Given the description of an element on the screen output the (x, y) to click on. 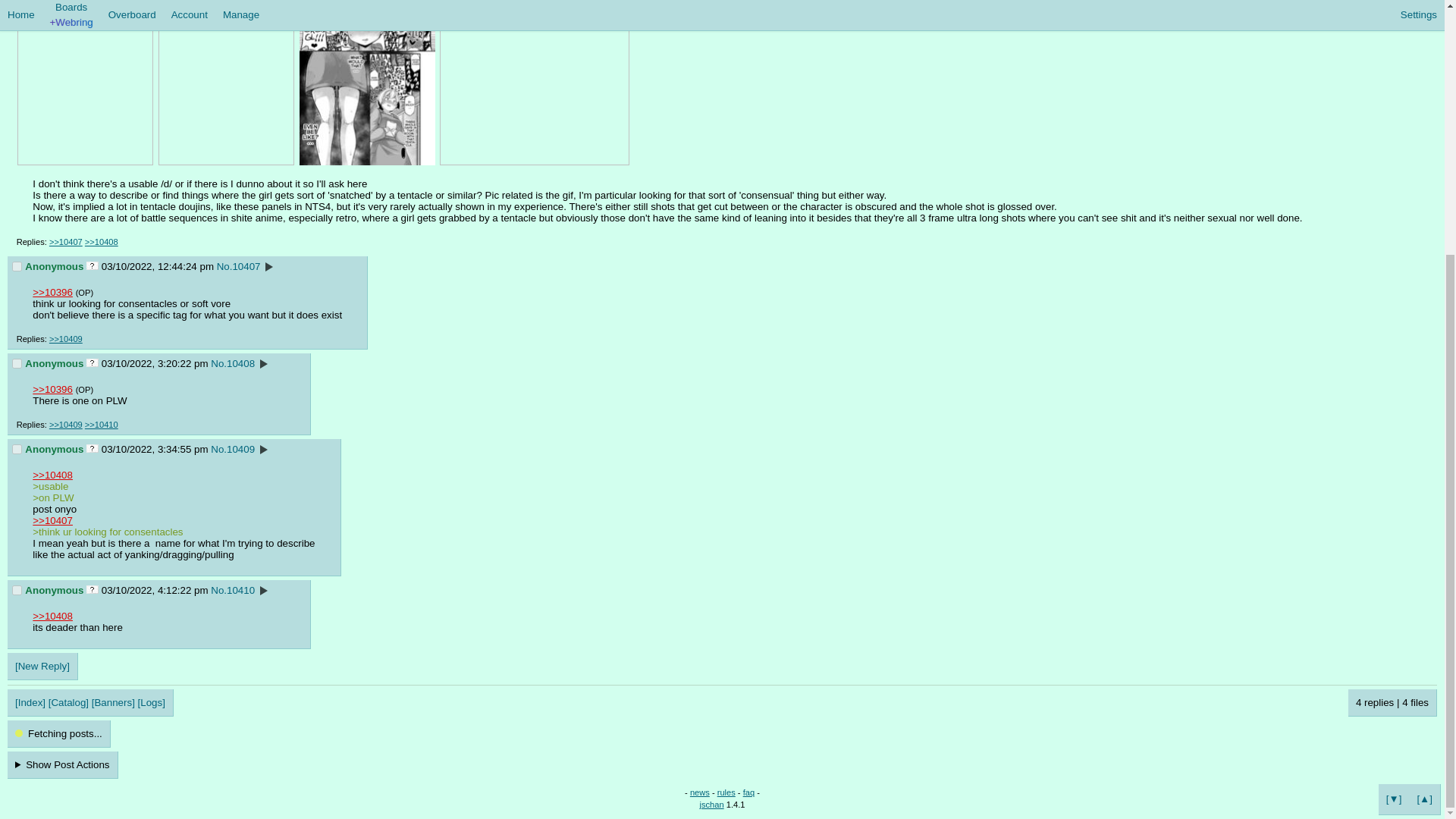
10408 (16, 363)
Unknown (92, 448)
Unknown (92, 265)
10410 (16, 590)
Unknown (92, 589)
10408 (240, 363)
No. (219, 363)
10407 (245, 266)
10407 (16, 266)
Unknown (92, 362)
